Given the description of an element on the screen output the (x, y) to click on. 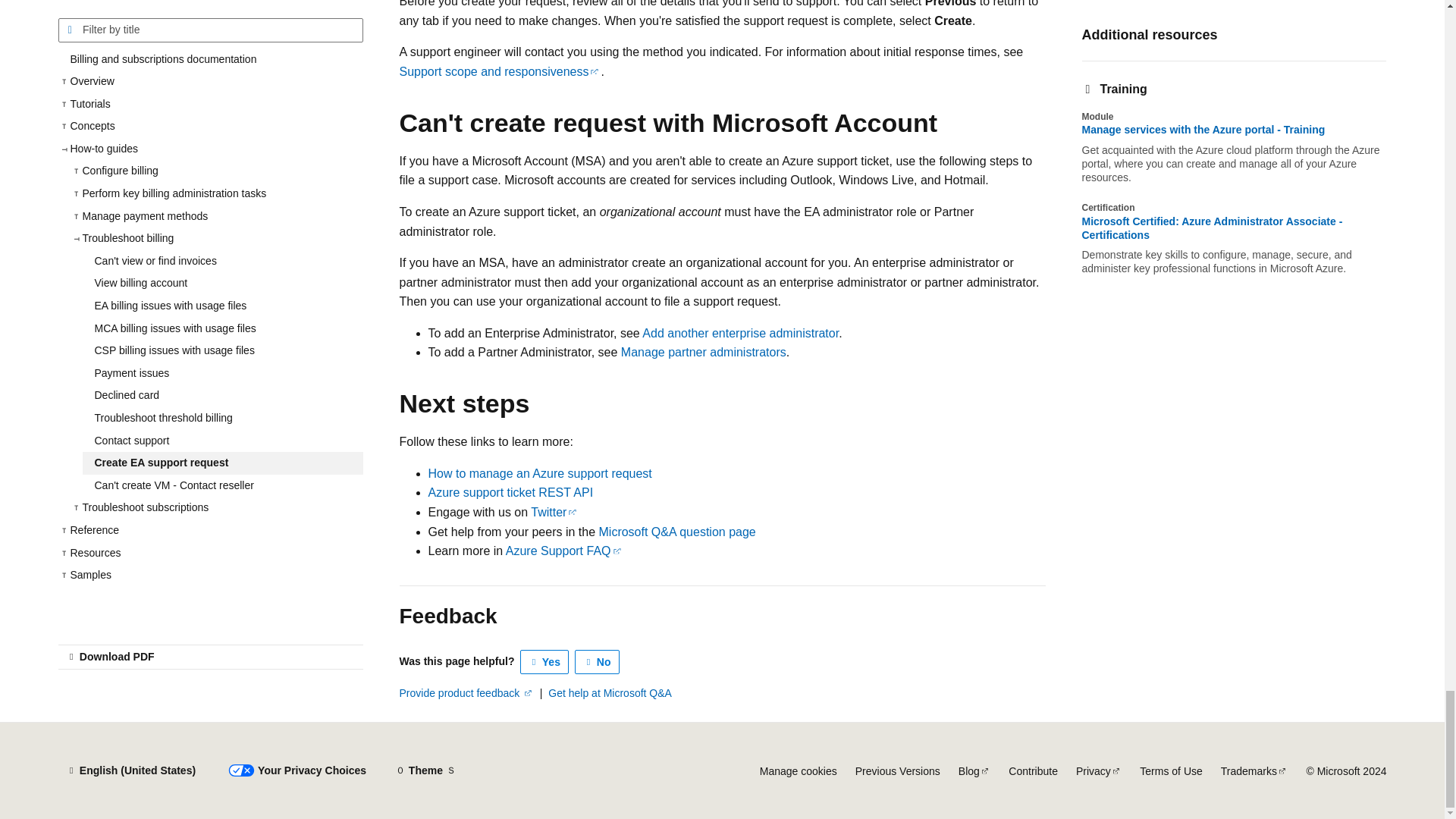
This article is helpful (544, 662)
Theme (425, 770)
This article is not helpful (597, 662)
